Given the description of an element on the screen output the (x, y) to click on. 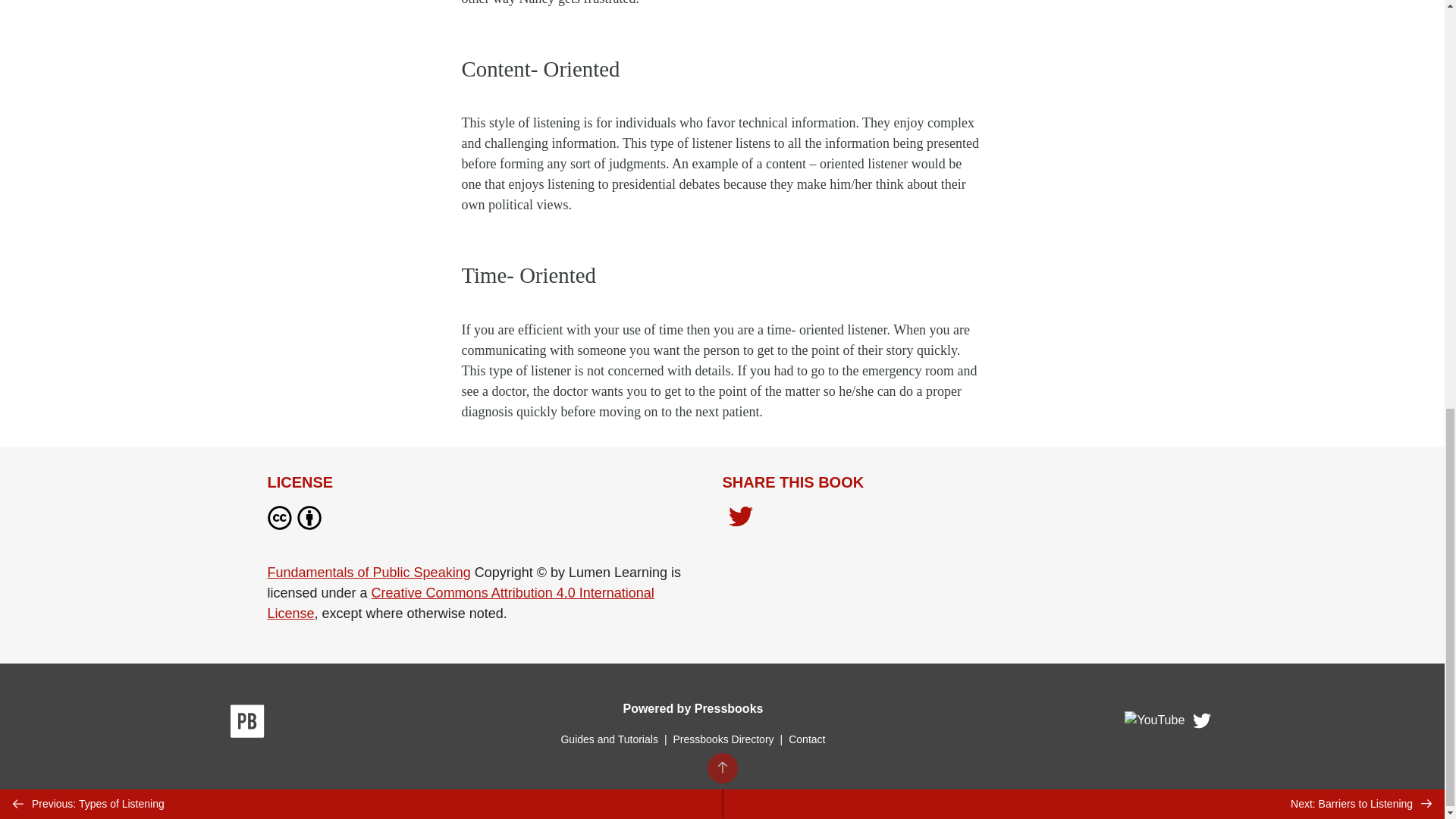
Guides and Tutorials (608, 739)
Pressbooks on YouTube (1155, 724)
Share on Twitter (740, 517)
Creative Commons Attribution 4.0 International License (459, 602)
Fundamentals of Public Speaking (368, 572)
Powered by Pressbooks (692, 707)
Pressbooks Directory (723, 739)
Contact (807, 739)
Share on Twitter (740, 520)
